Given the description of an element on the screen output the (x, y) to click on. 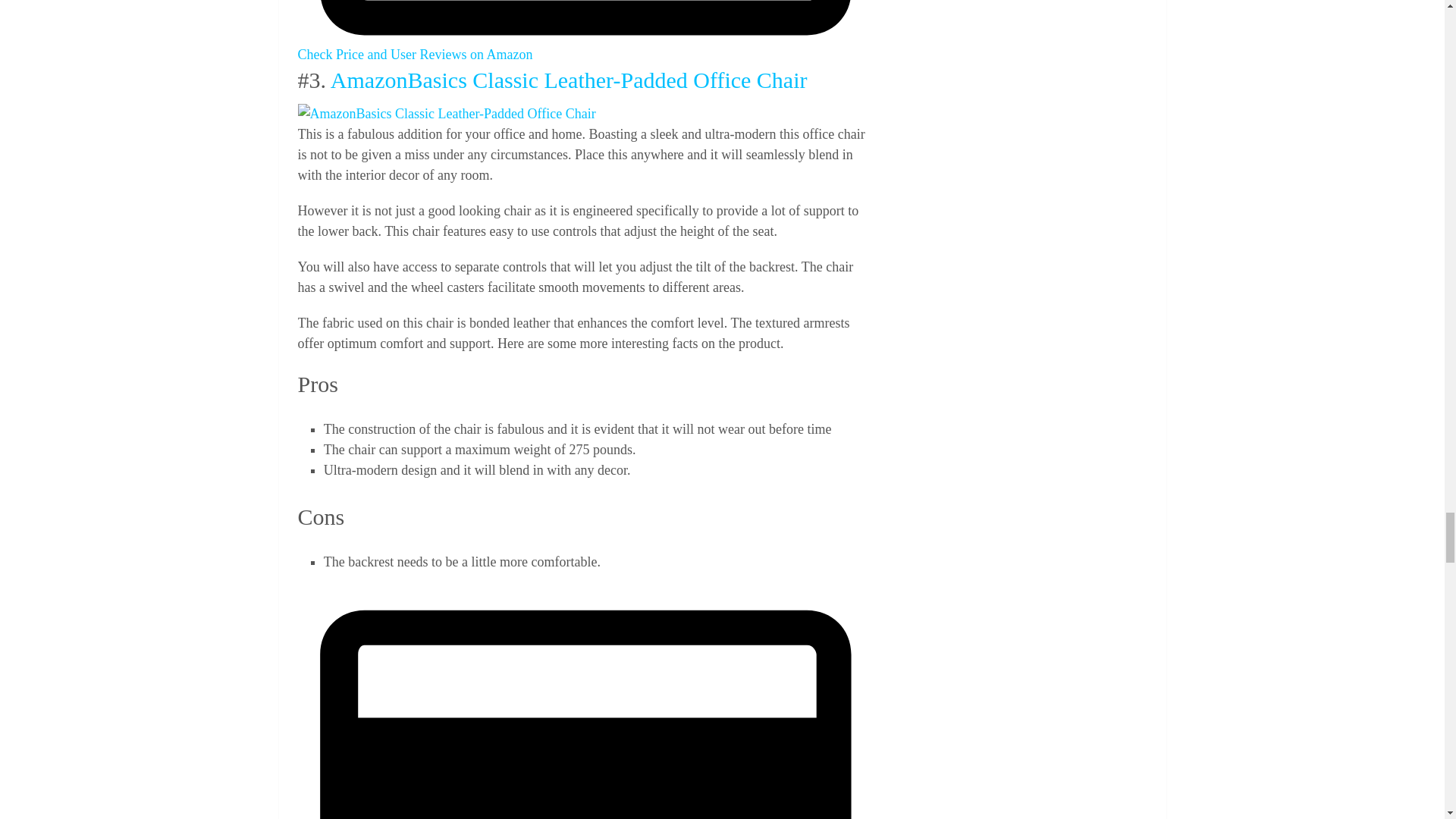
AmazonBasics Classic Leather-Padded Office Chair (446, 114)
